Given the description of an element on the screen output the (x, y) to click on. 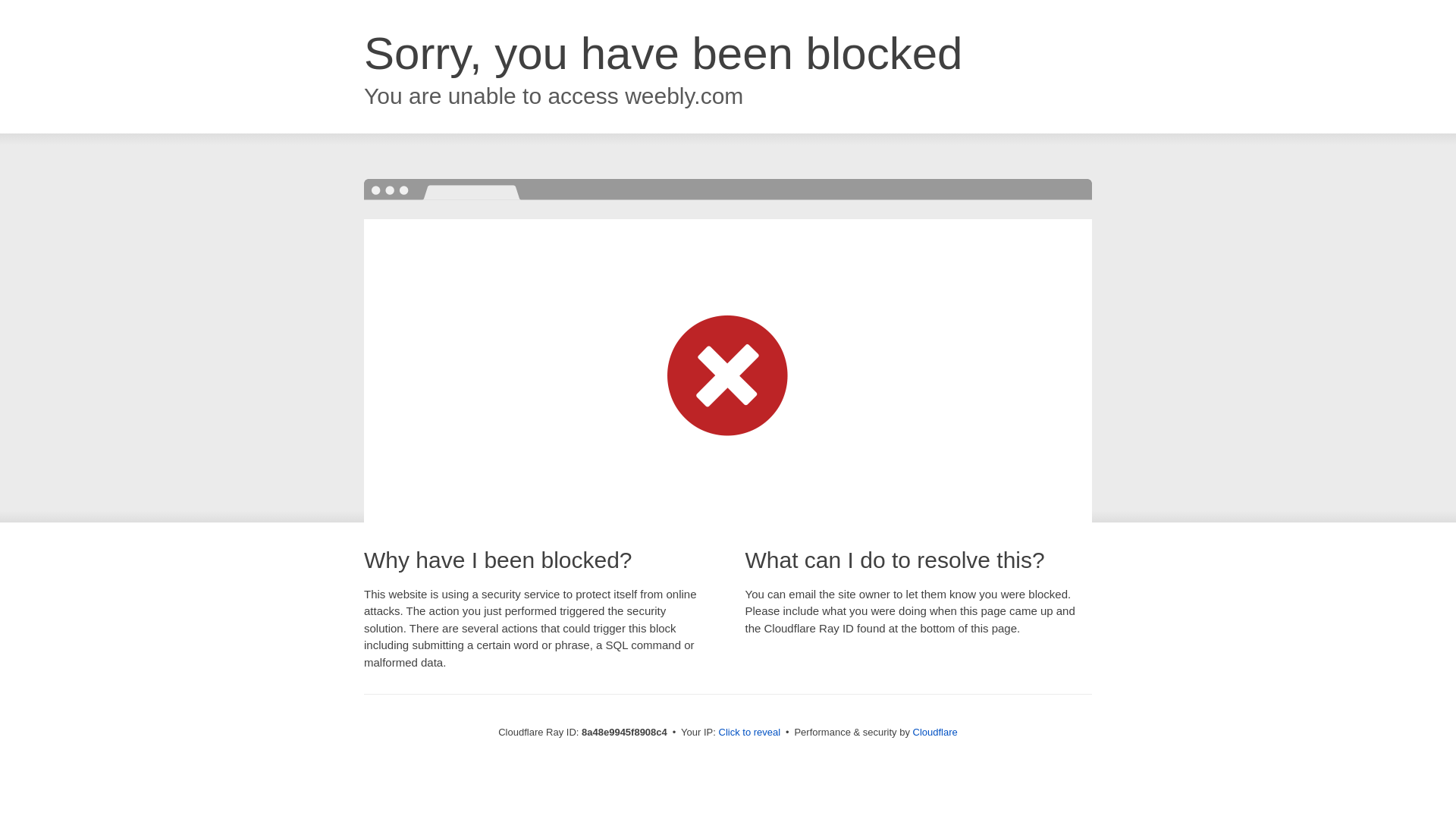
Click to reveal (749, 732)
Cloudflare (935, 731)
